Given the description of an element on the screen output the (x, y) to click on. 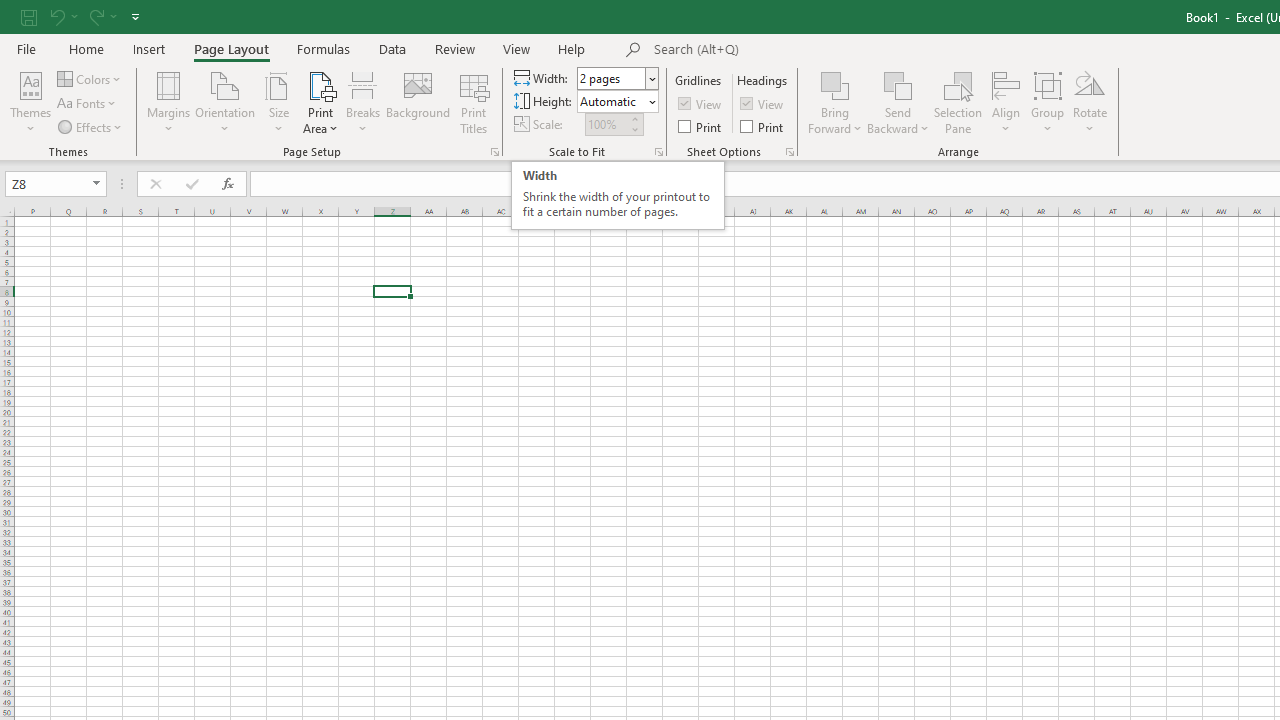
Customize Quick Access Toolbar (135, 15)
Print Area (320, 102)
System (10, 11)
Print Titles (474, 102)
Review (454, 48)
Name Box (46, 183)
Redo (102, 15)
Size (278, 102)
Orientation (225, 102)
Send Backward (898, 102)
Height (611, 101)
Scale (605, 124)
Print (763, 126)
Data (392, 48)
Quick Access Toolbar (82, 16)
